Given the description of an element on the screen output the (x, y) to click on. 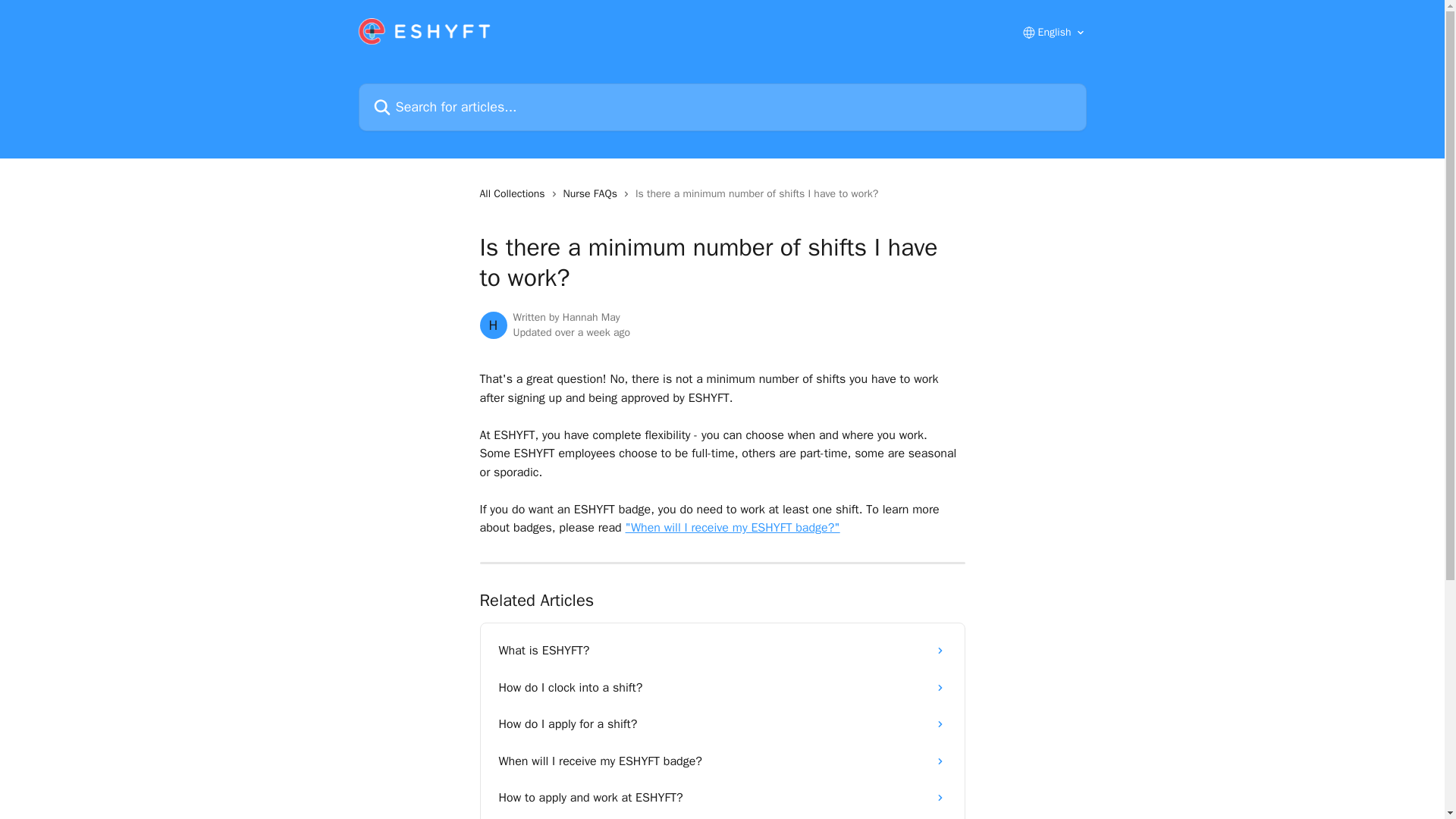
All Collections (514, 193)
How do I clock into a shift? (722, 687)
When will I receive my ESHYFT badge? (722, 760)
Nurse FAQs (593, 193)
How to apply and work at ESHYFT? (722, 797)
How do I apply for a shift? (722, 723)
What is ESHYFT? (722, 650)
"When will I receive my ESHYFT badge?" (733, 527)
